Given the description of an element on the screen output the (x, y) to click on. 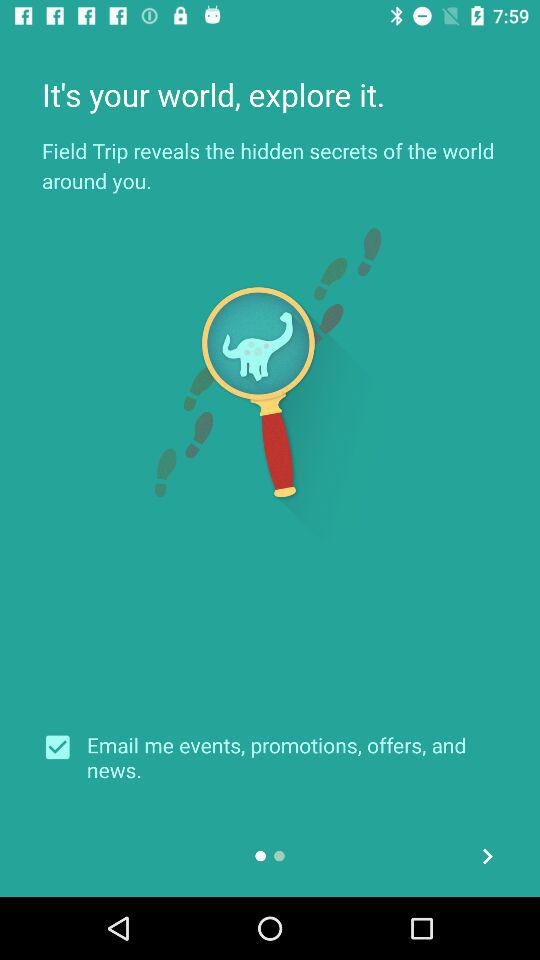
get email spam (64, 747)
